Given the description of an element on the screen output the (x, y) to click on. 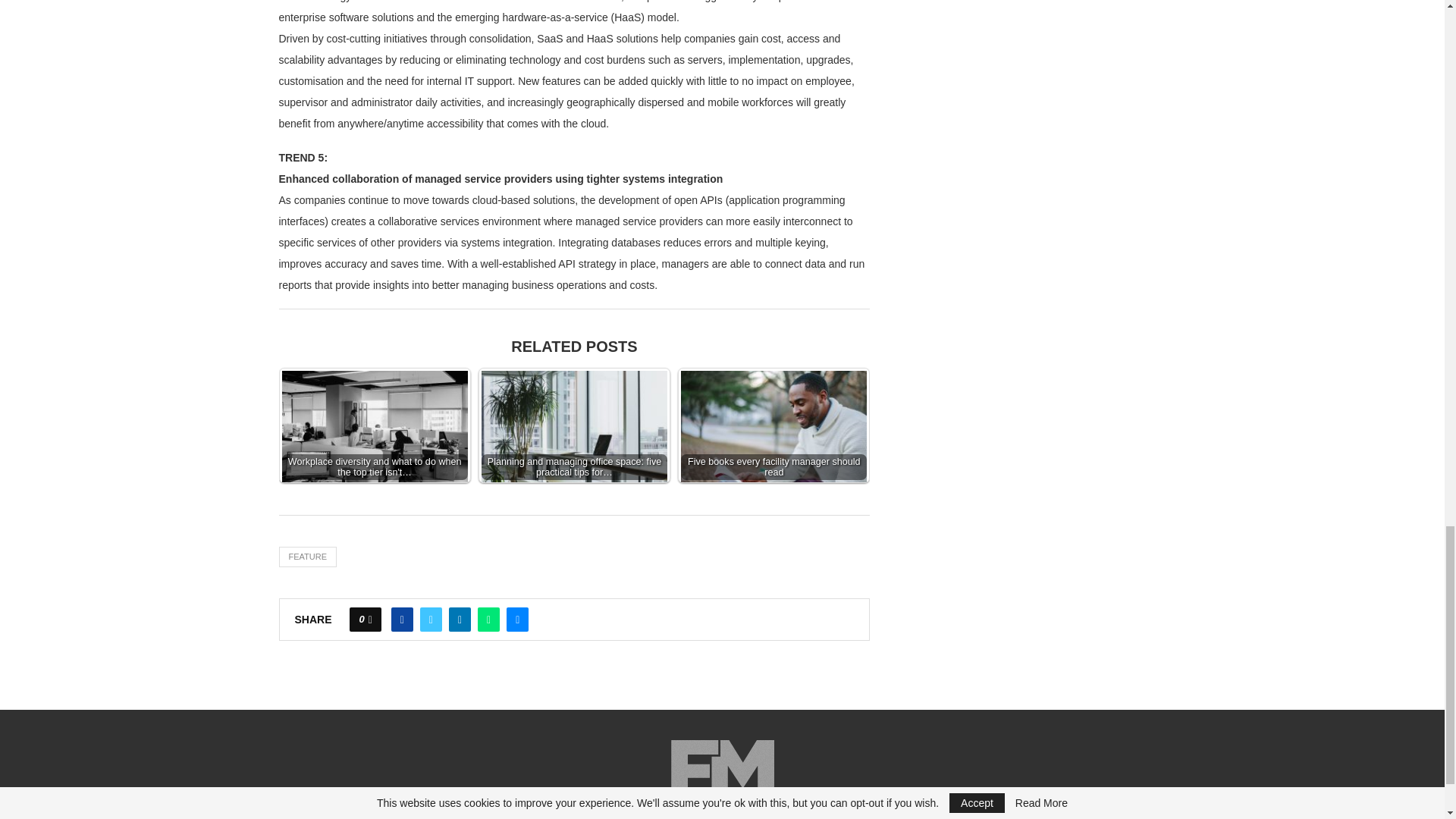
Five books every facility manager should read (773, 432)
